Given the description of an element on the screen output the (x, y) to click on. 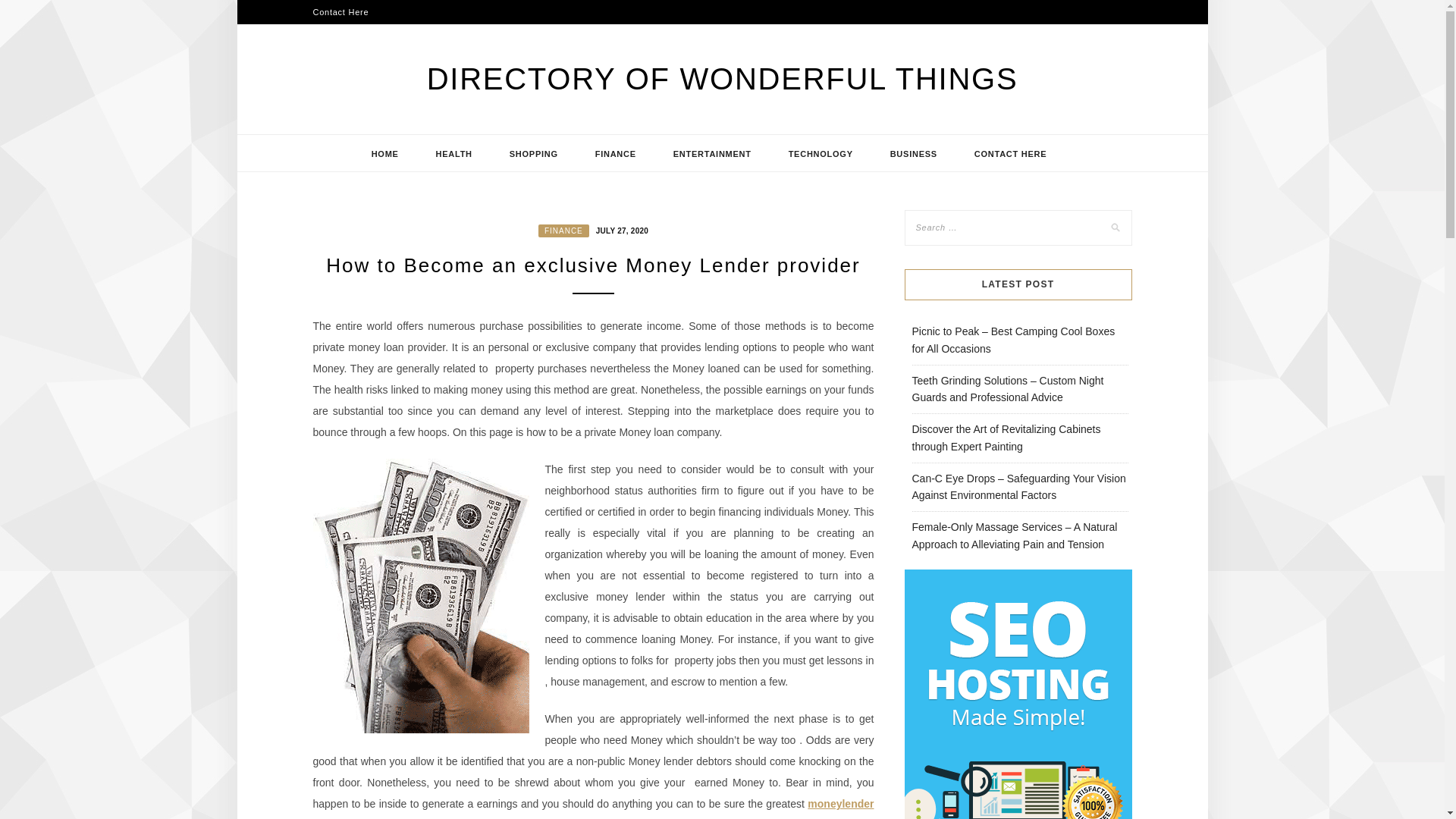
Search (28, 11)
HEALTH (454, 153)
TECHNOLOGY (820, 153)
ENTERTAINMENT (712, 153)
FINANCE (563, 230)
DIRECTORY OF WONDERFUL THINGS (721, 78)
Contact Here (340, 12)
moneylender (840, 803)
JULY 27, 2020 (619, 229)
SHOPPING (533, 153)
